Given the description of an element on the screen output the (x, y) to click on. 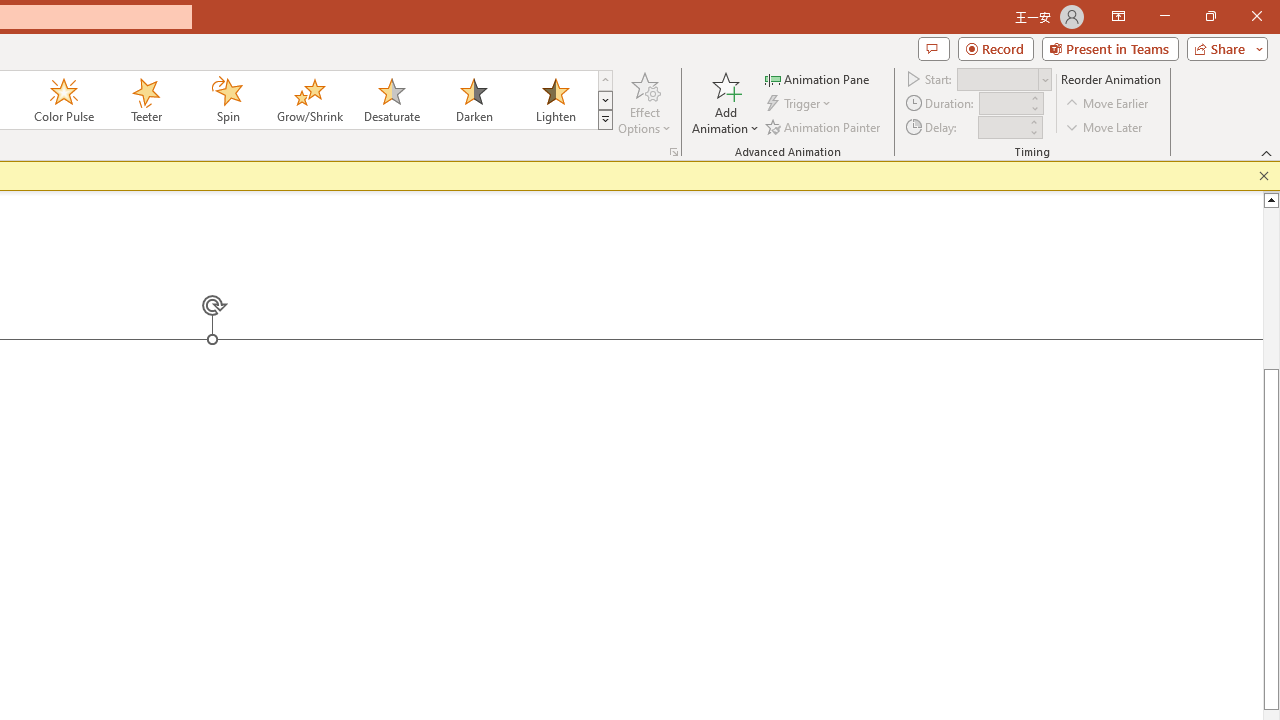
Trigger (799, 103)
Animation Painter (824, 126)
Animation Styles (605, 120)
More Options... (673, 151)
Desaturate (391, 100)
Color Pulse (63, 100)
Move Earlier (1107, 103)
Darken (473, 100)
More (1033, 121)
Lighten (555, 100)
Close this message (1263, 176)
Teeter (145, 100)
